Given the description of an element on the screen output the (x, y) to click on. 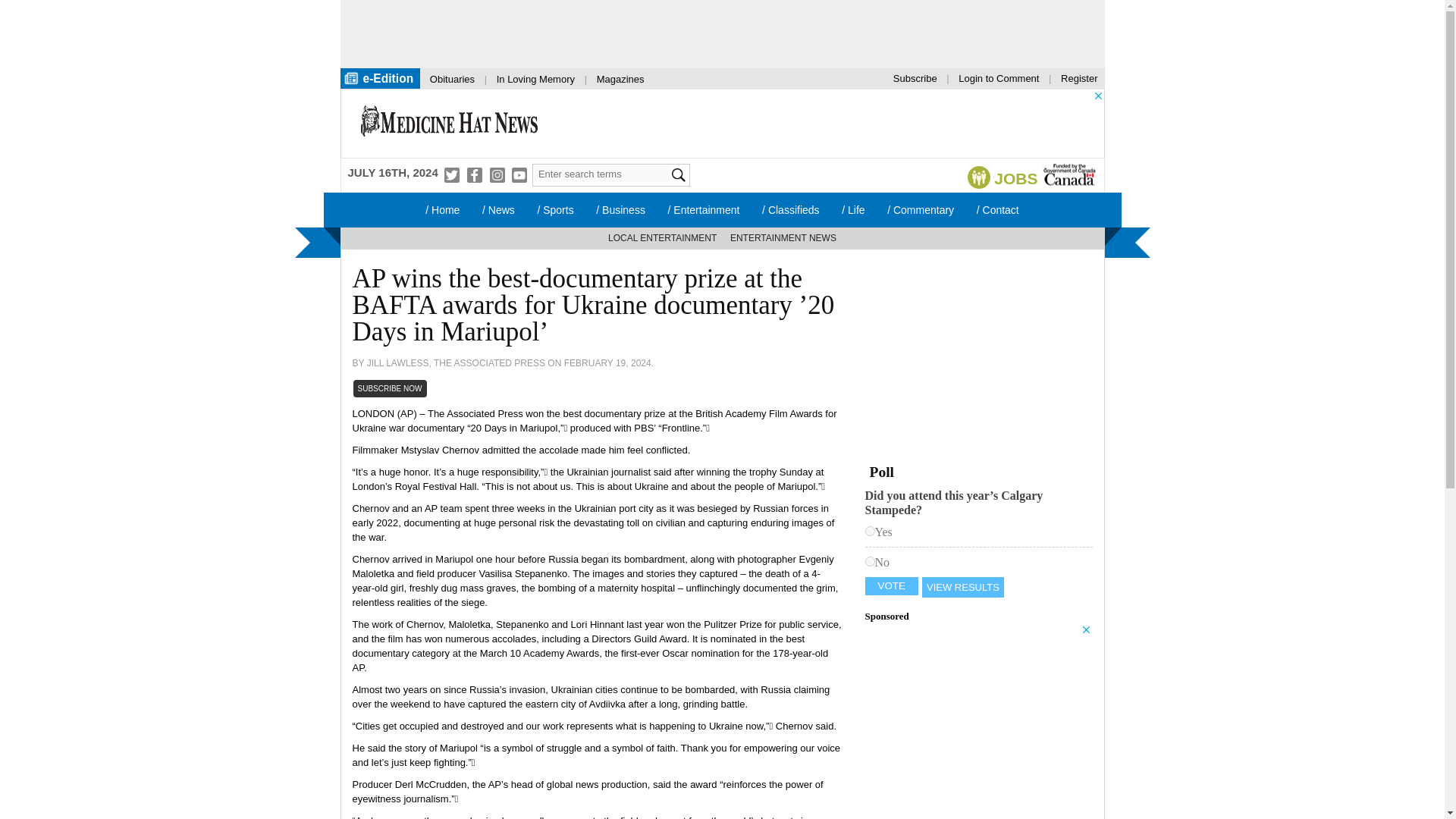
Sports (555, 209)
Register (1078, 77)
News (497, 209)
Business (620, 209)
VIEW RESULTS (962, 587)
SUBSCRIBE NOW (389, 388)
Subscribe (914, 77)
3rd party ad content (707, 33)
e-Edition (379, 77)
Magazines (619, 78)
LOCAL ENTERTAINMENT (662, 238)
Home (449, 123)
View Results Of This Poll (962, 587)
ENTERTAINMENT NEWS (783, 238)
Home (441, 209)
